Given the description of an element on the screen output the (x, y) to click on. 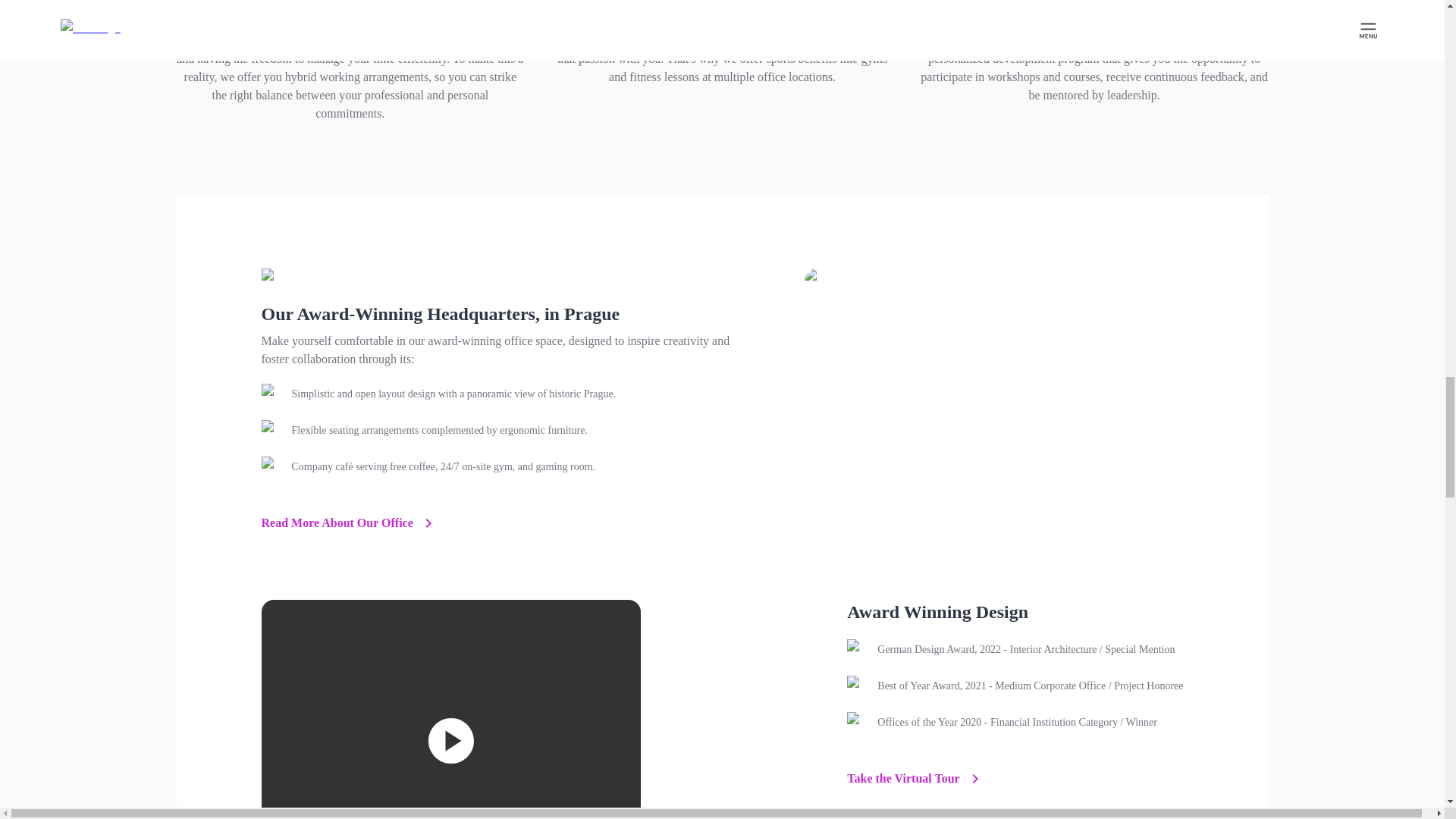
Read More About Our Office (348, 523)
Take the Virtual Tour (915, 778)
